Given the description of an element on the screen output the (x, y) to click on. 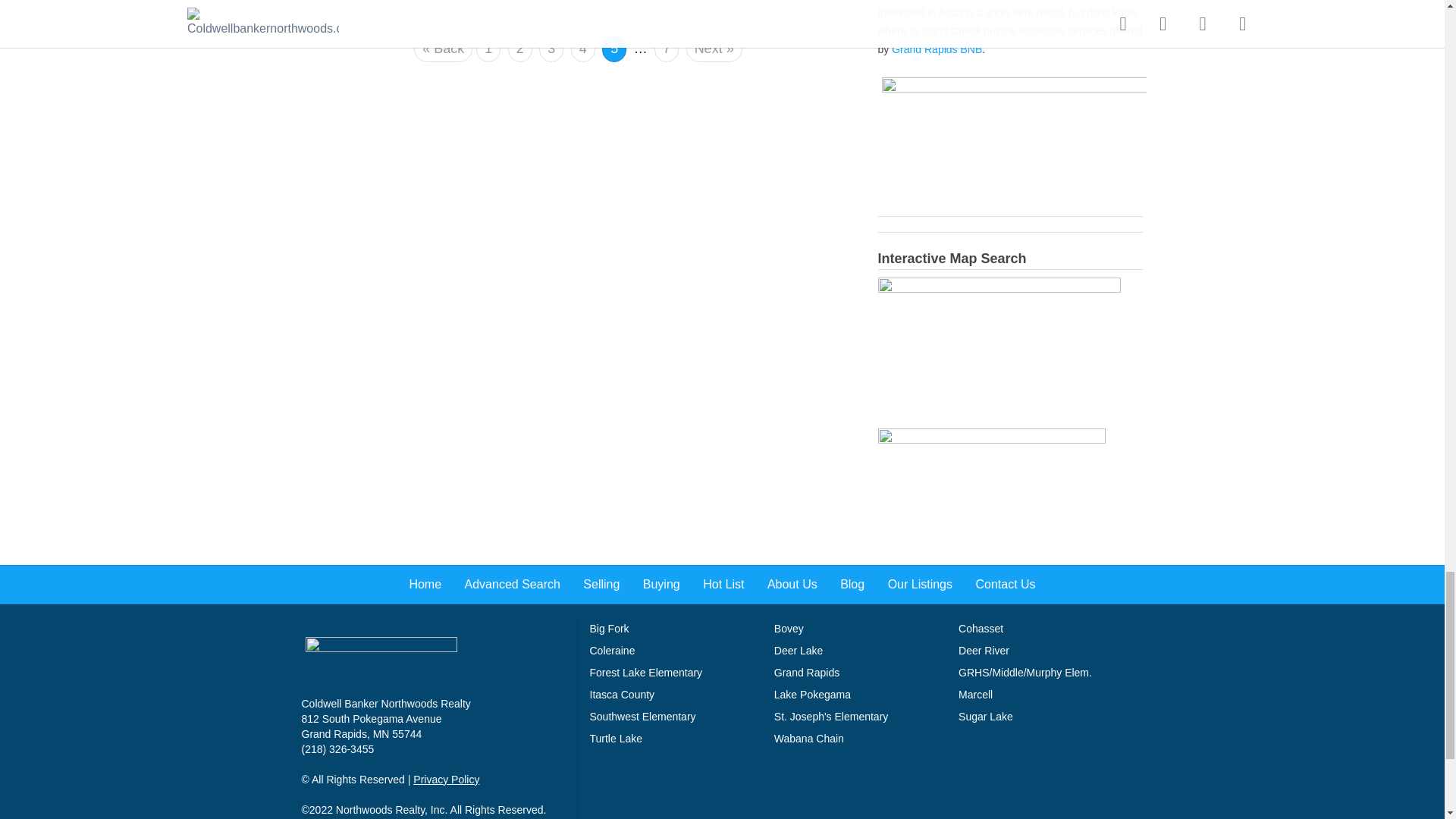
Page 4 (582, 49)
Previous Page (442, 49)
Grand Rapids BnB (1014, 143)
Page 2 (520, 49)
Next Page (713, 49)
Page 1 (488, 49)
Current Page (614, 45)
Page 3 (550, 49)
